Given the description of an element on the screen output the (x, y) to click on. 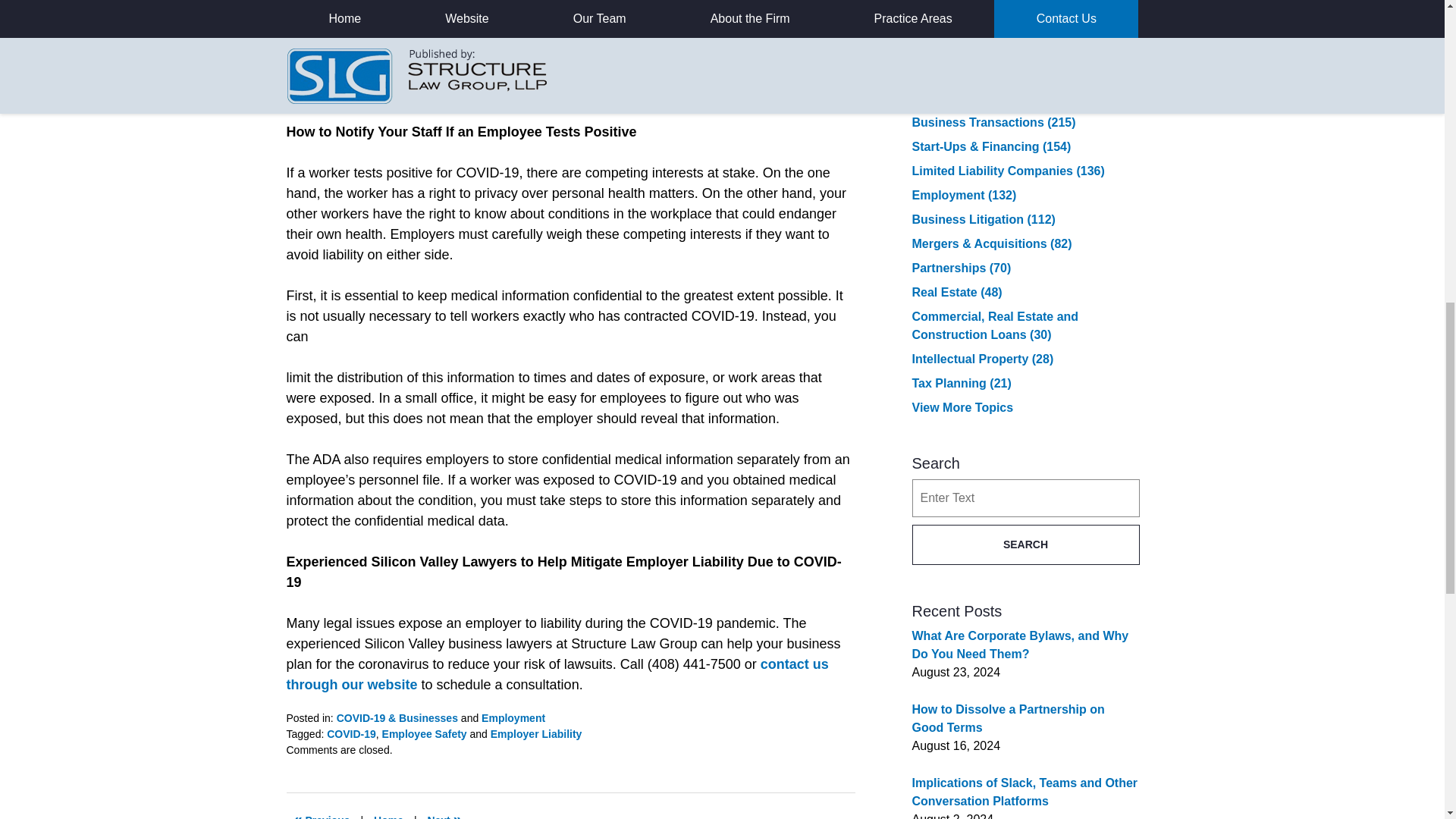
Home (388, 812)
View all posts in Employment (512, 717)
Employee Safety (424, 734)
Employment (512, 717)
View all posts tagged with Employee Safety (424, 734)
COVID-19 (350, 734)
View all posts tagged with COVID-19 (350, 734)
SUBSCRIBE (1024, 13)
contact us through our website (557, 674)
Employer Liability (536, 734)
